Given the description of an element on the screen output the (x, y) to click on. 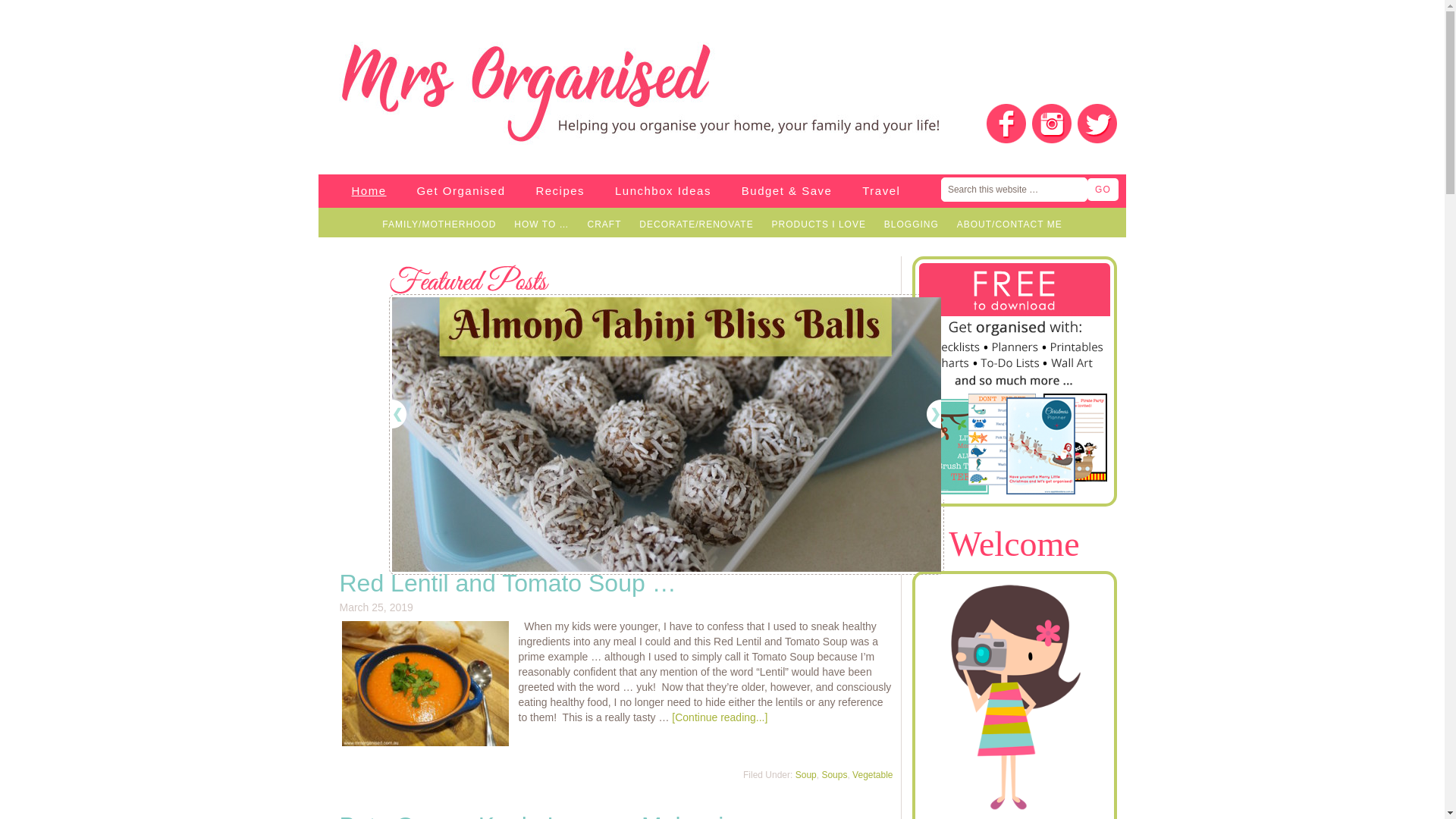
DECORATE/RENOVATE Element type: text (695, 224)
Soups Element type: text (834, 774)
Welcome Element type: text (1013, 543)
Lunchbox Ideas Element type: text (662, 190)
Home Element type: text (369, 190)
Mrs Organised Element type: text (433, 92)
Vegetable Element type: text (872, 774)
Go Element type: text (1102, 189)
Recipes Element type: text (559, 190)
FAMILY/MOTHERHOOD Element type: text (438, 224)
Soup Element type: text (805, 774)
CRAFT Element type: text (603, 224)
[Continue reading...] Element type: text (719, 717)
PRODUCTS I LOVE Element type: text (818, 224)
